Given the description of an element on the screen output the (x, y) to click on. 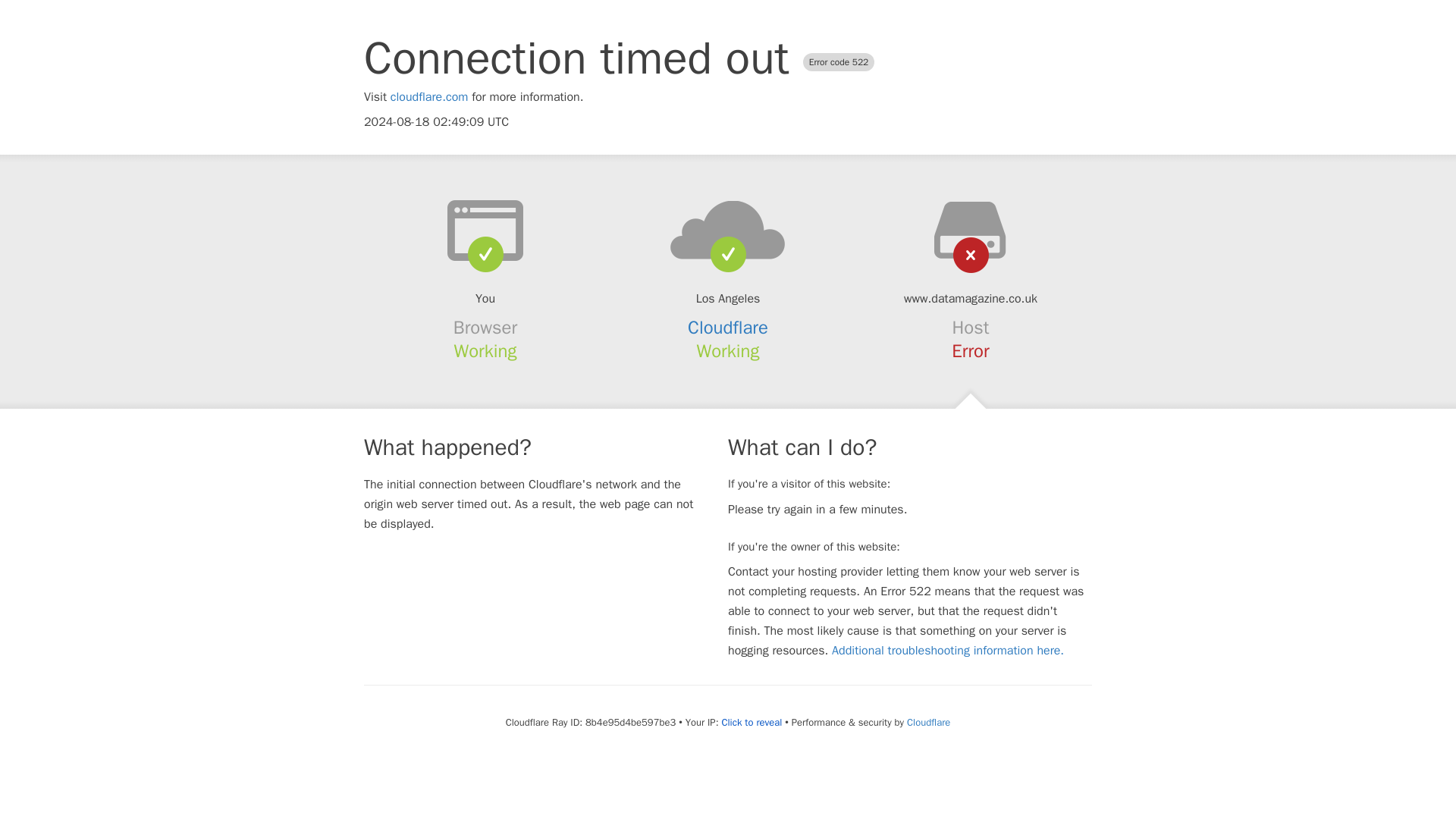
Cloudflare (727, 327)
Additional troubleshooting information here. (947, 650)
Cloudflare (928, 721)
Click to reveal (750, 722)
cloudflare.com (429, 96)
